Given the description of an element on the screen output the (x, y) to click on. 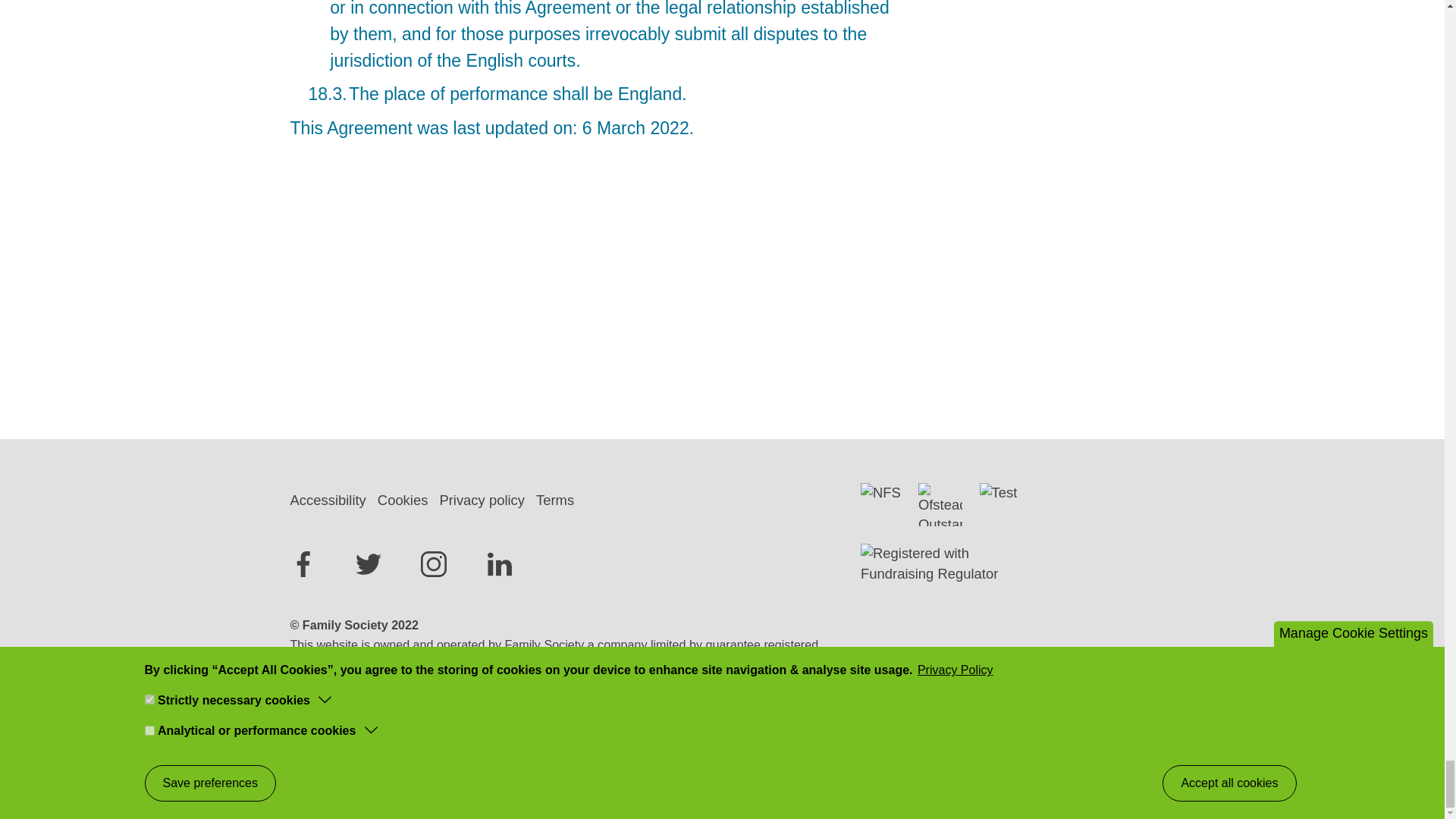
Website Terms (620, 735)
Twitter (368, 564)
Cookies (408, 500)
Terms and Conditions (620, 735)
Instagram (433, 564)
Terms (560, 500)
Accessibility (333, 500)
Facebook (302, 564)
Privacy policy (487, 500)
Linked in (499, 564)
